Given the description of an element on the screen output the (x, y) to click on. 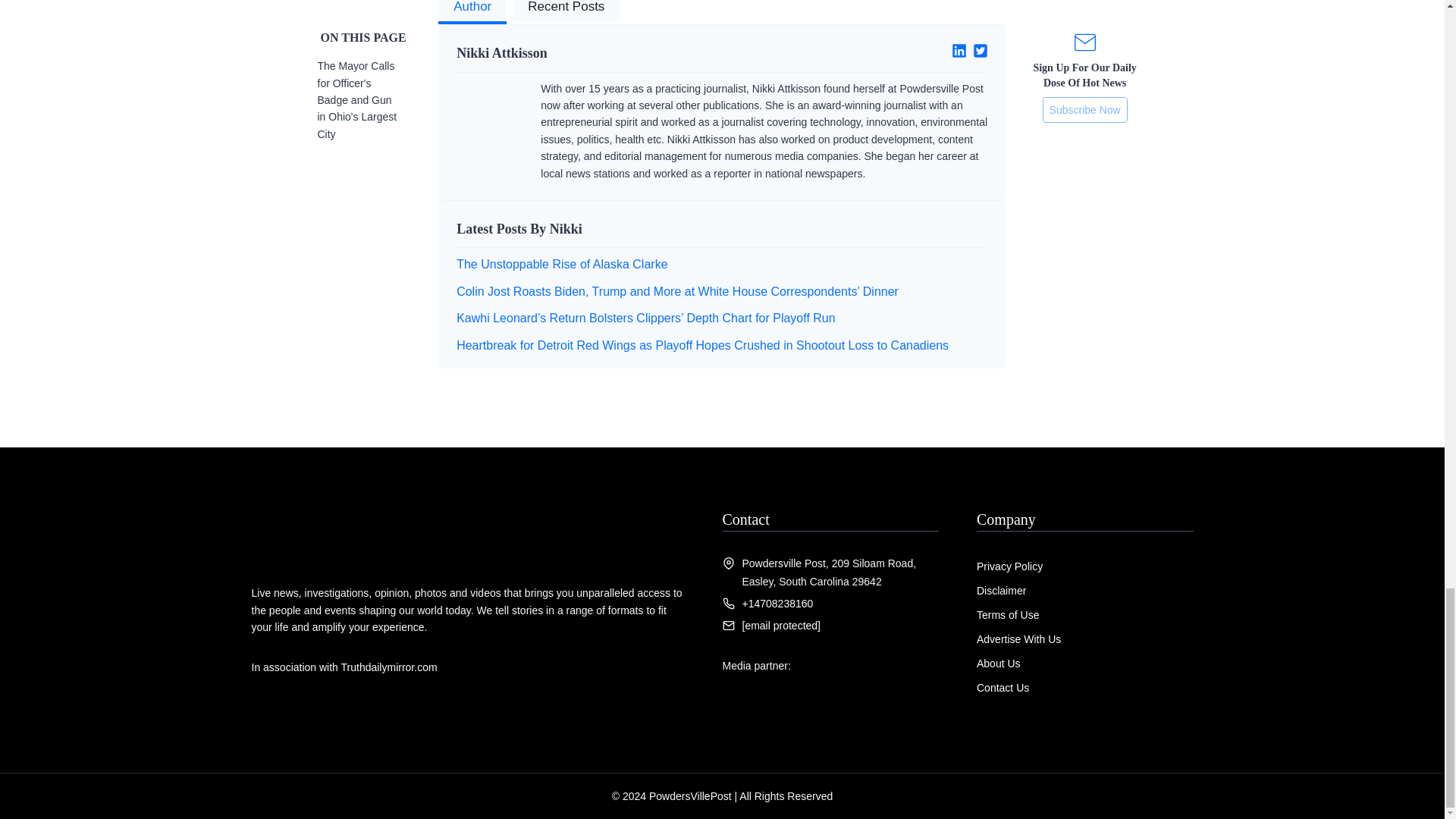
Author (472, 12)
Privacy Policy (1009, 566)
Recent Posts (566, 12)
Nikki Attkisson (583, 53)
Disclaimer (1001, 590)
Terms of Use (1007, 614)
Advertise With Us (1018, 639)
About Us (998, 663)
The Unstoppable Rise of Alaska Clarke (561, 264)
